Given the description of an element on the screen output the (x, y) to click on. 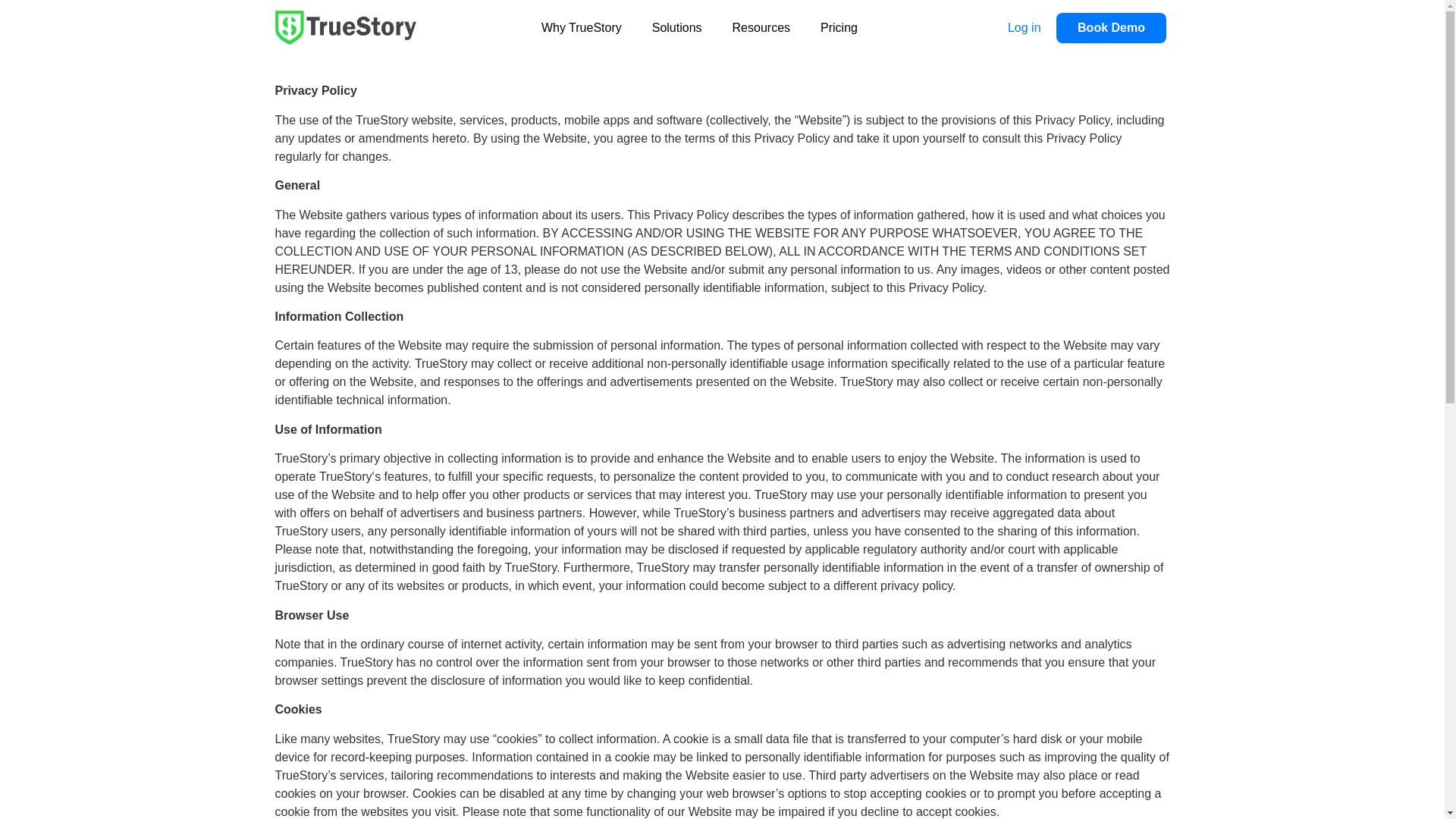
Solutions (676, 27)
Why TrueStory (581, 27)
Resources (761, 27)
